Given the description of an element on the screen output the (x, y) to click on. 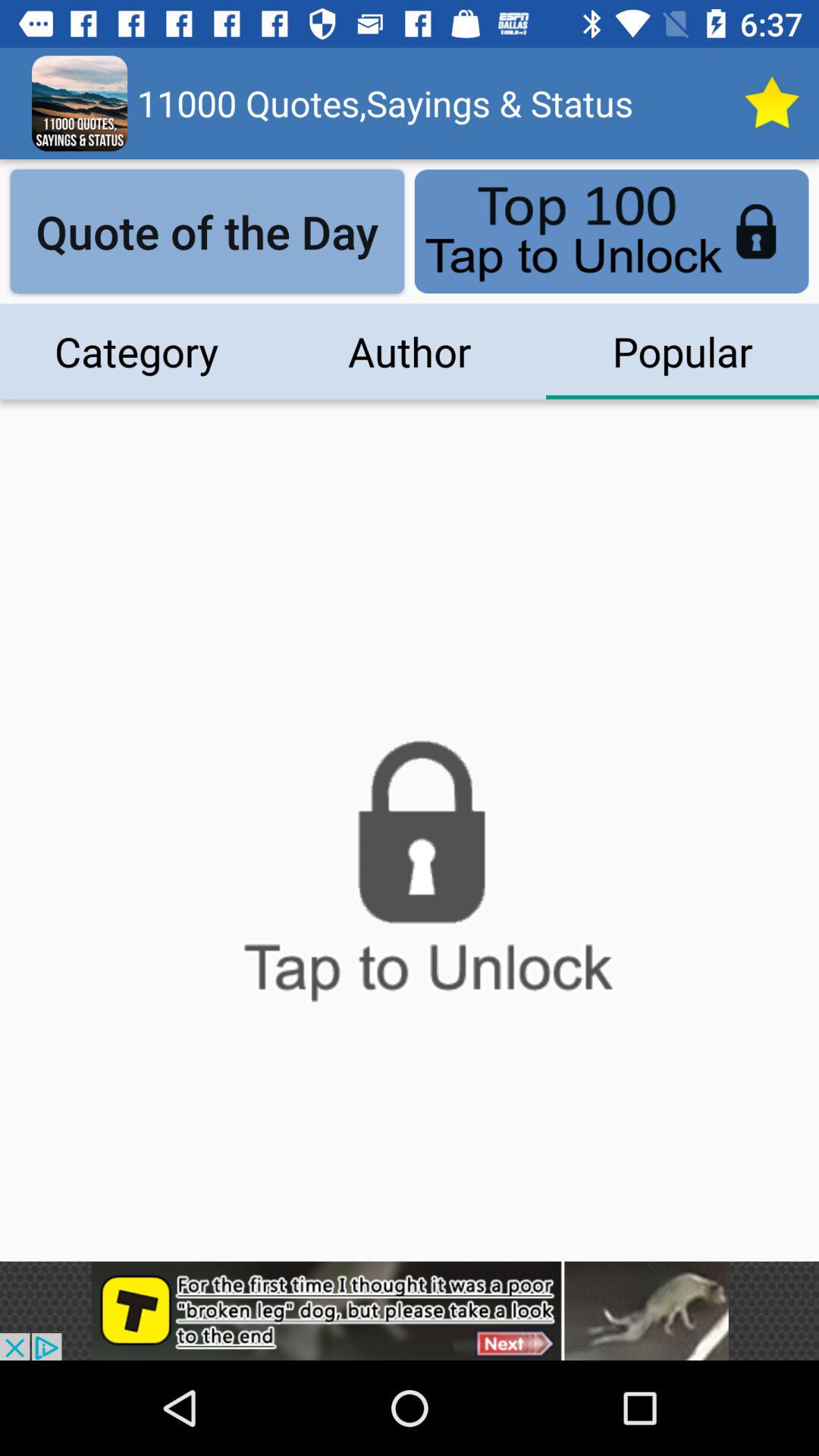
to go culded accese (409, 879)
